Given the description of an element on the screen output the (x, y) to click on. 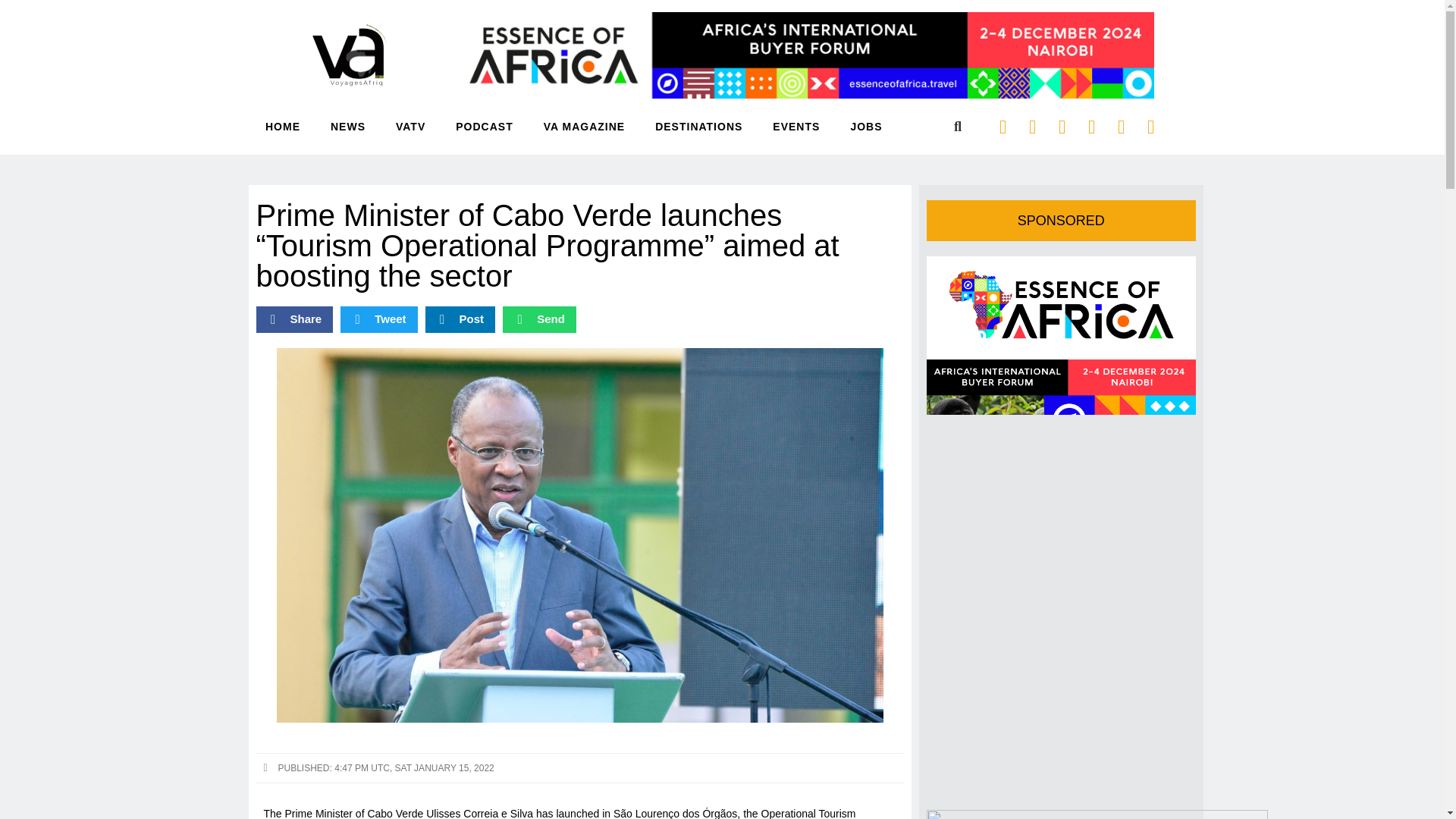
VA MAGAZINE (583, 126)
PODCAST (483, 126)
DESTINATIONS (698, 126)
